Given the description of an element on the screen output the (x, y) to click on. 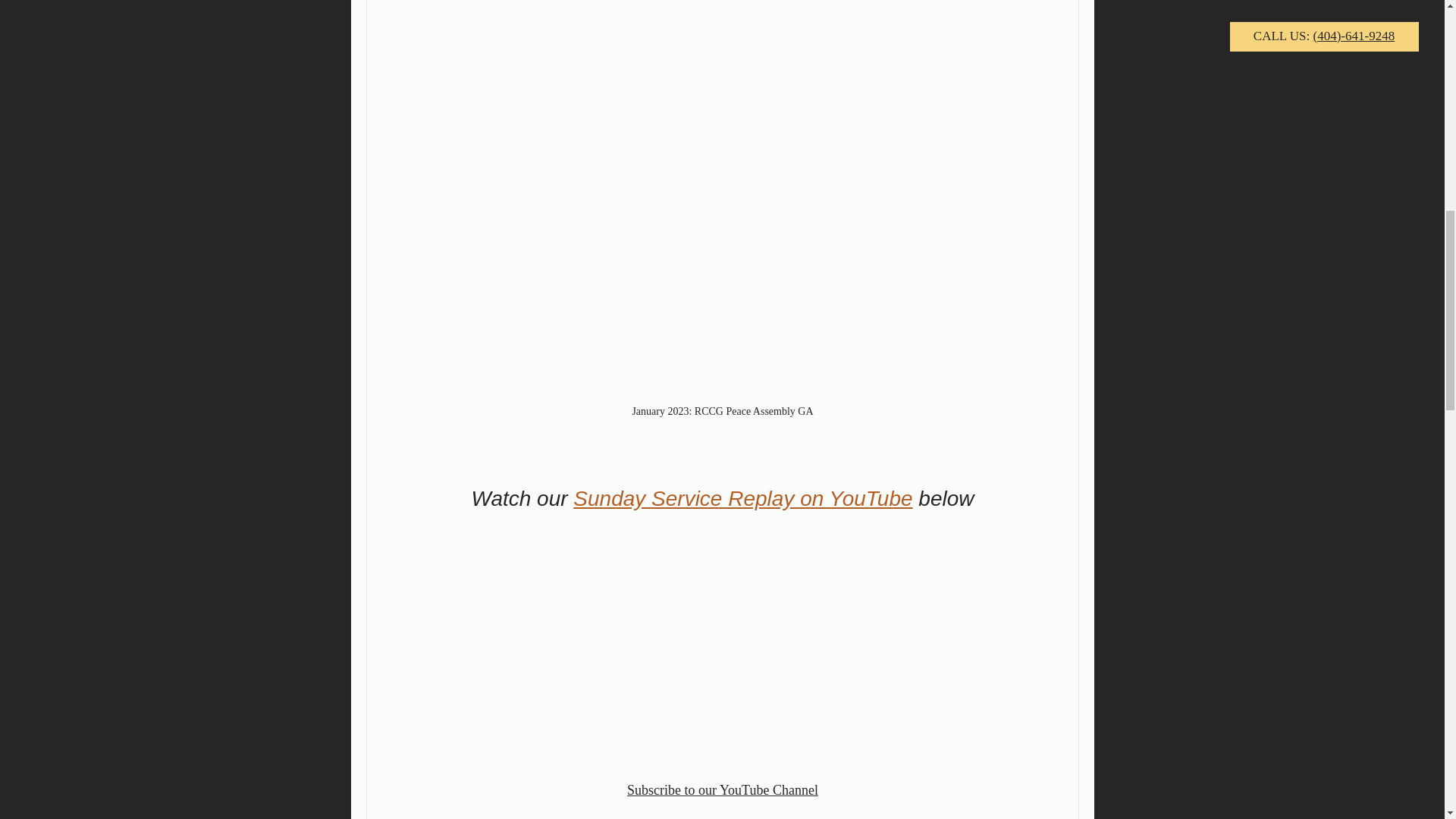
Subscribe to our YouTube Channel (722, 789)
Sunday Service Replay on YouTube (742, 498)
